Given the description of an element on the screen output the (x, y) to click on. 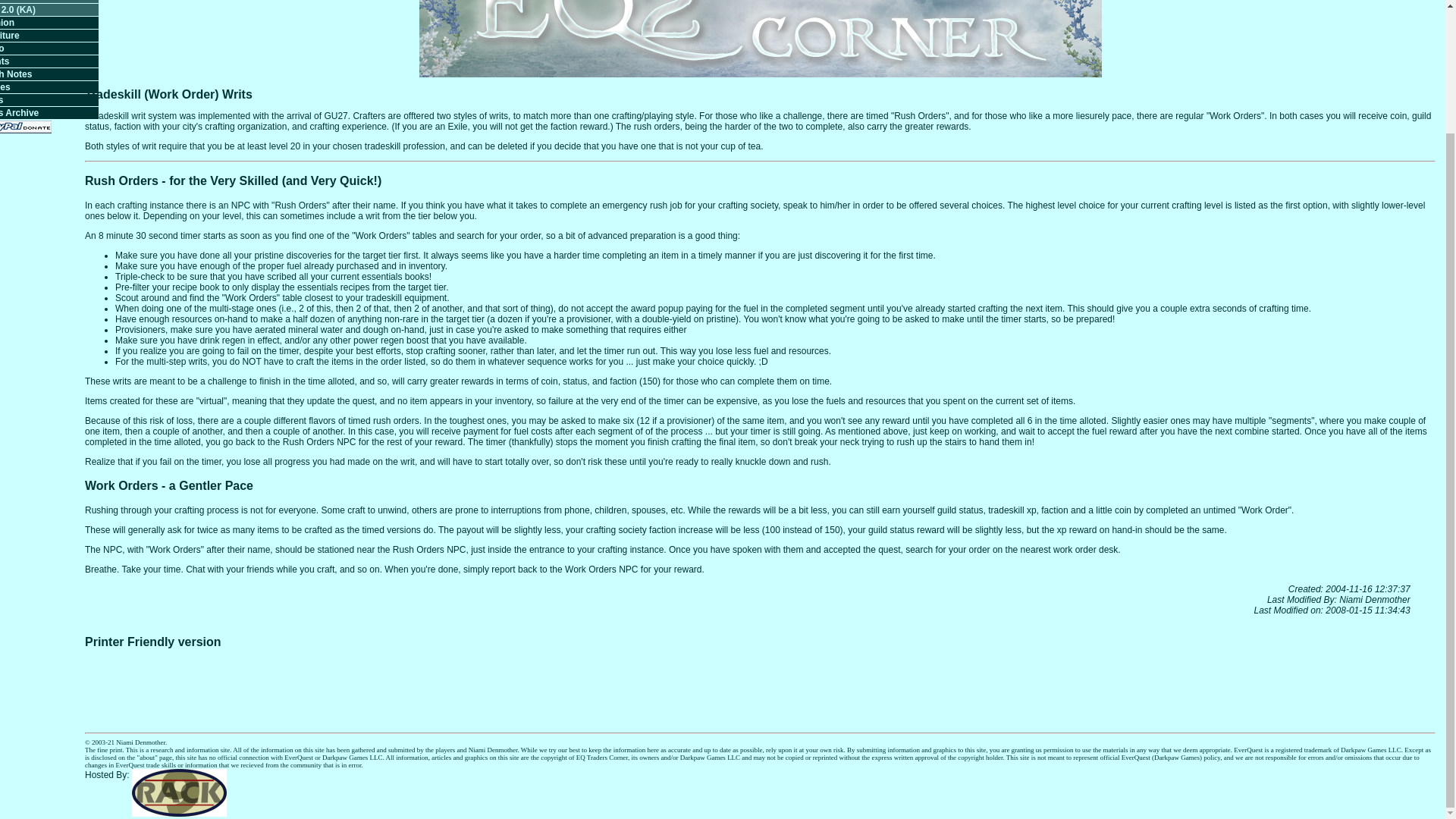
Advertisement (759, 683)
Printer Friendly version (152, 641)
News Archive (49, 112)
Stories (49, 87)
Links (49, 100)
Furniture (49, 35)
Events (49, 61)
Fashion (49, 22)
Video (49, 48)
Patch Notes (49, 73)
Prayer Shawl (49, 1)
